Given the description of an element on the screen output the (x, y) to click on. 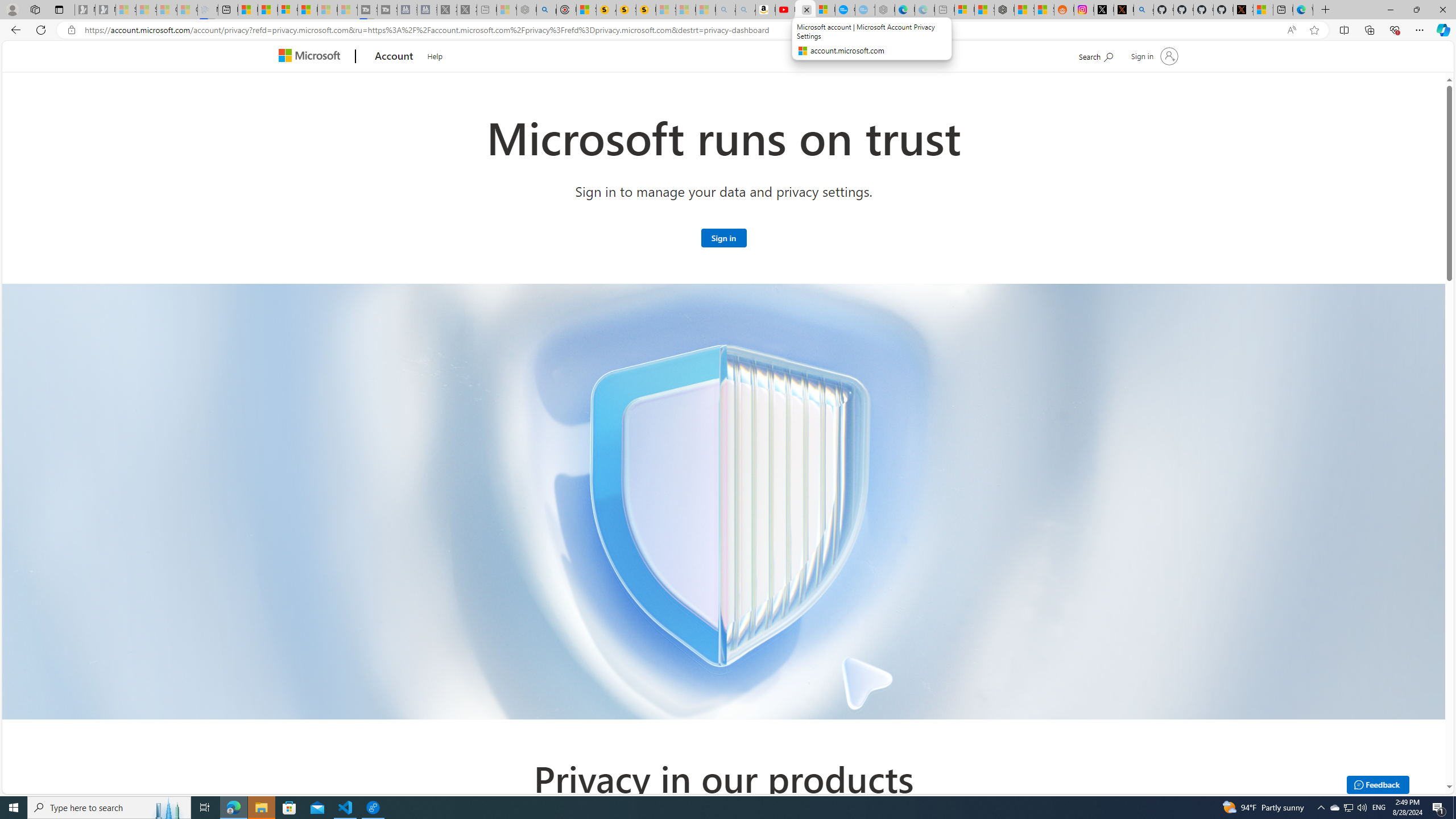
Sign in to your account (1153, 55)
Help (434, 54)
Nordace - Summer Adventures 2024 - Sleeping (526, 9)
